Given the description of an element on the screen output the (x, y) to click on. 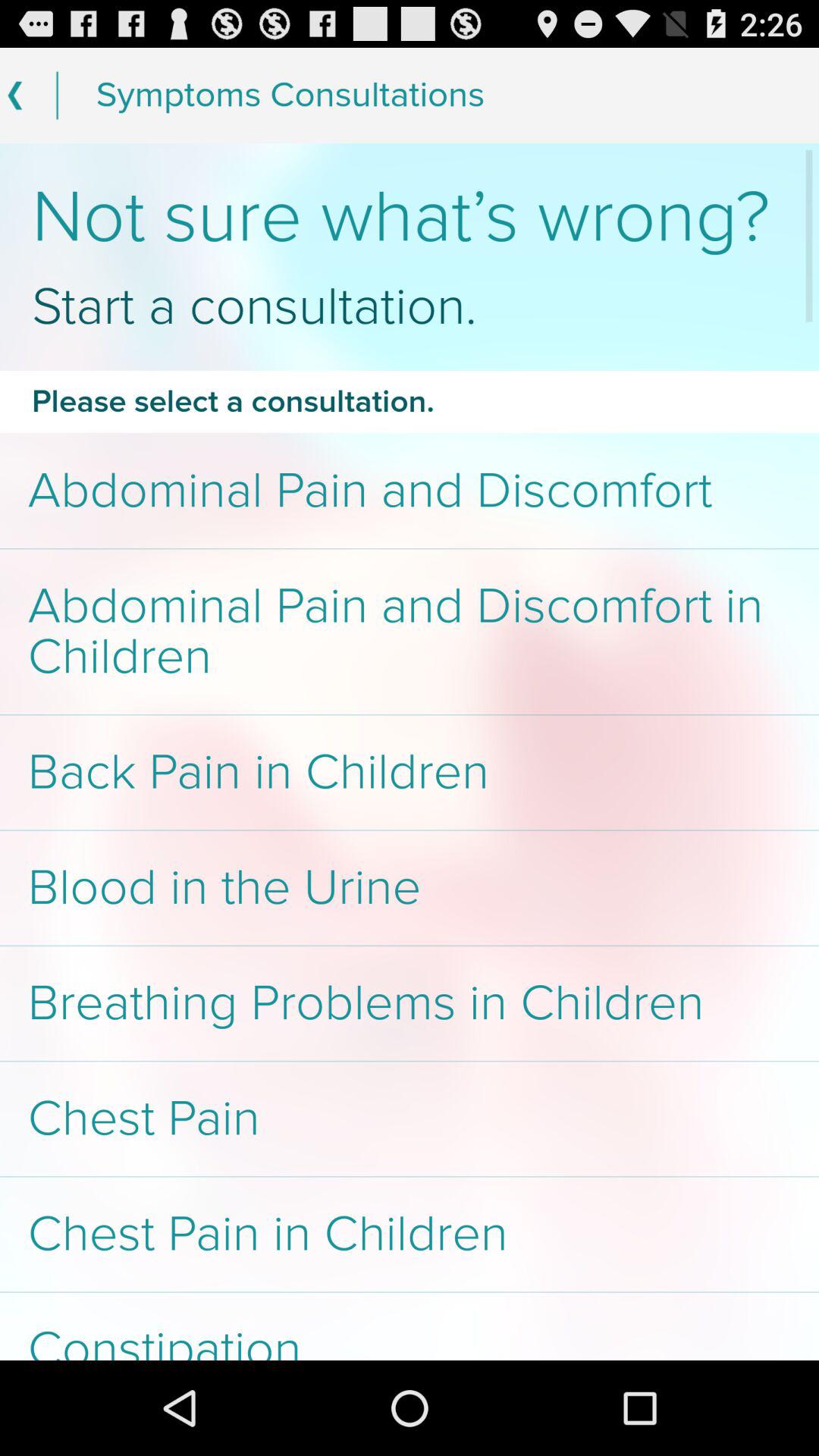
scroll until blood in the item (409, 887)
